Given the description of an element on the screen output the (x, y) to click on. 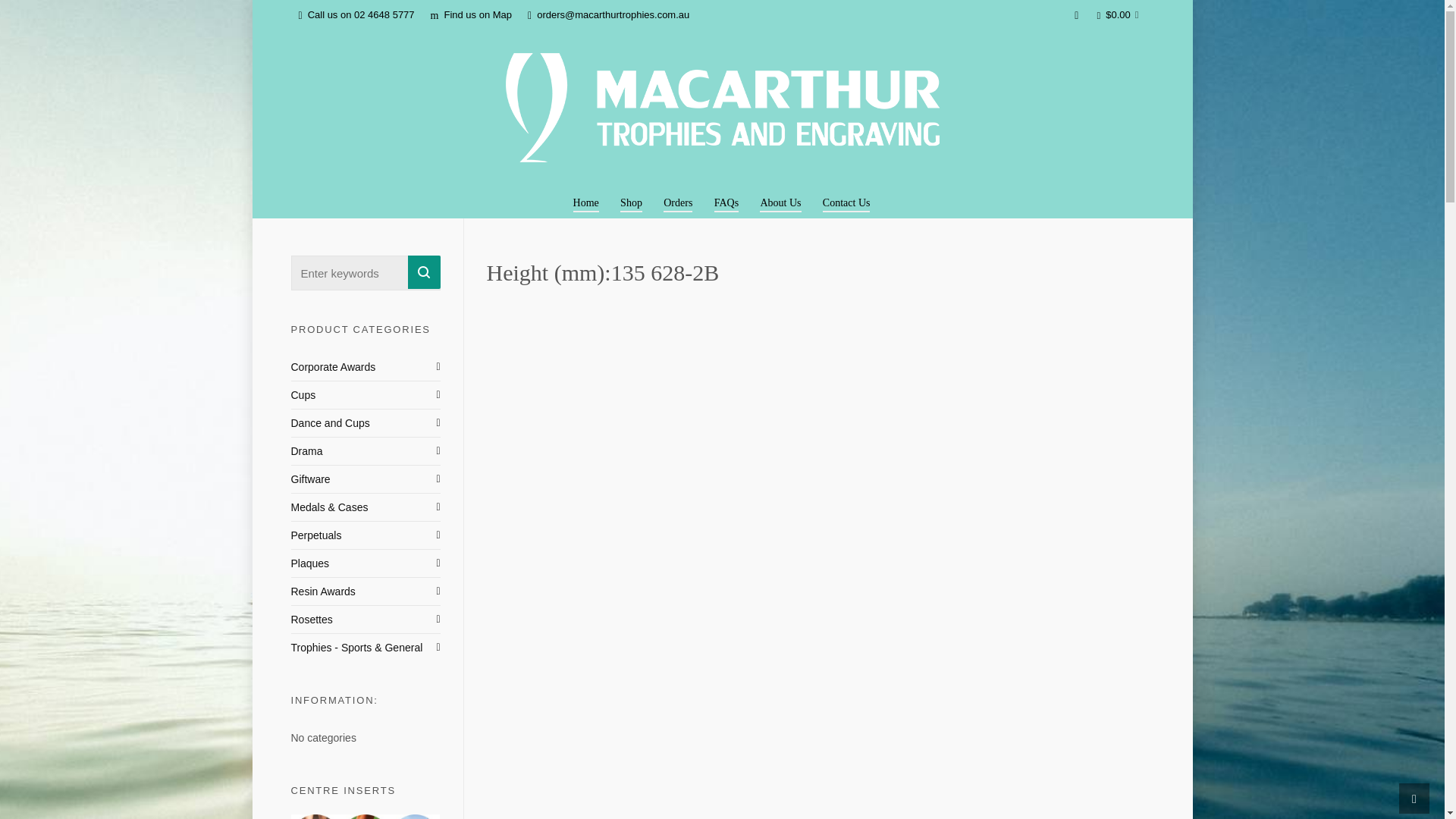
Shop (631, 201)
Home (586, 201)
Orders (677, 201)
Contact Us (847, 201)
FAQs (726, 201)
About Us (780, 201)
Find us on Map (471, 15)
